Given the description of an element on the screen output the (x, y) to click on. 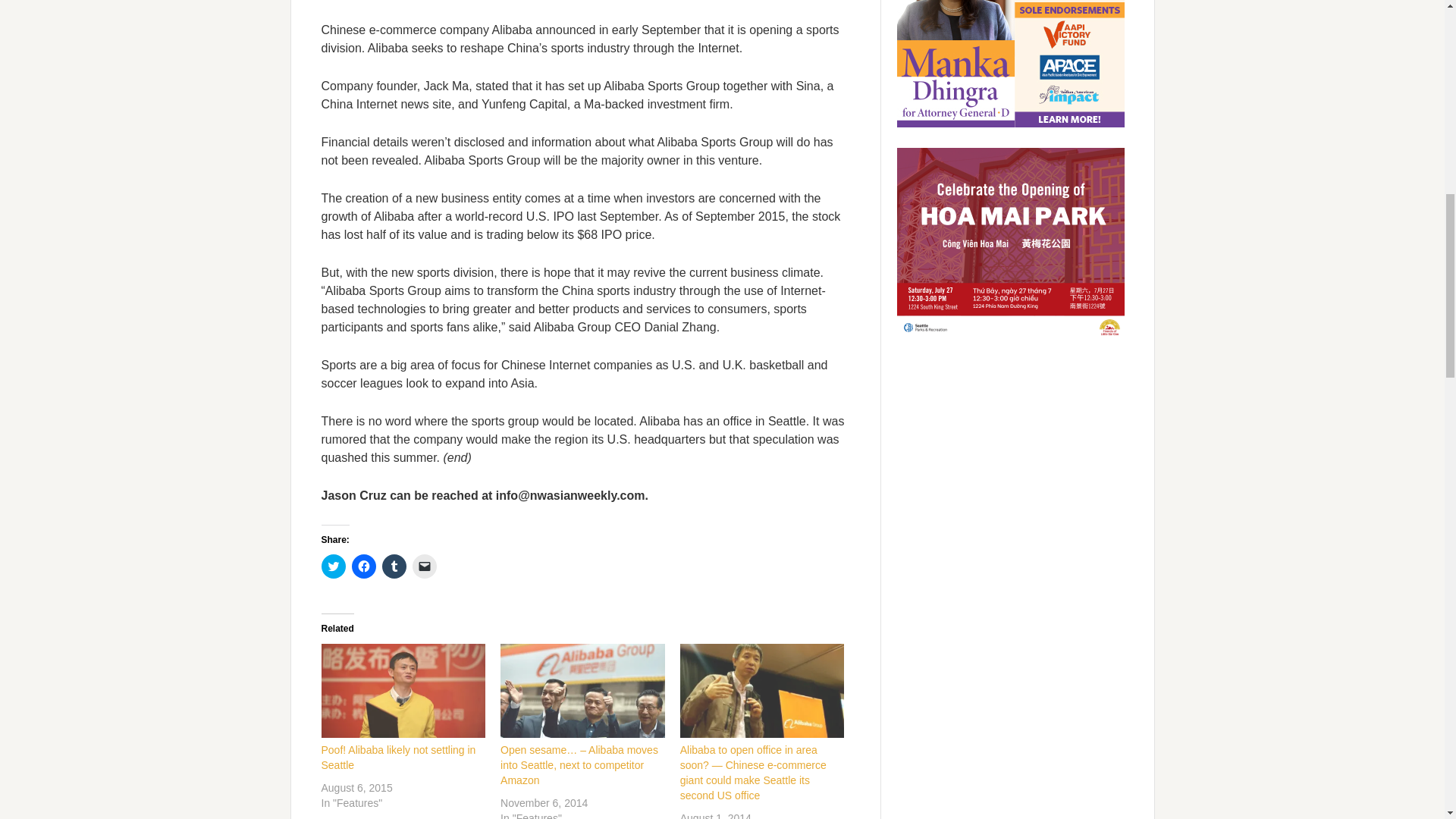
Click to share on Twitter (333, 566)
Click to email a link to a friend (424, 566)
Poof! Alibaba likely not settling in Seattle (398, 757)
Poof! Alibaba likely not settling in Seattle (403, 690)
Click to share on Facebook (363, 566)
Click to share on Tumblr (393, 566)
